Given the description of an element on the screen output the (x, y) to click on. 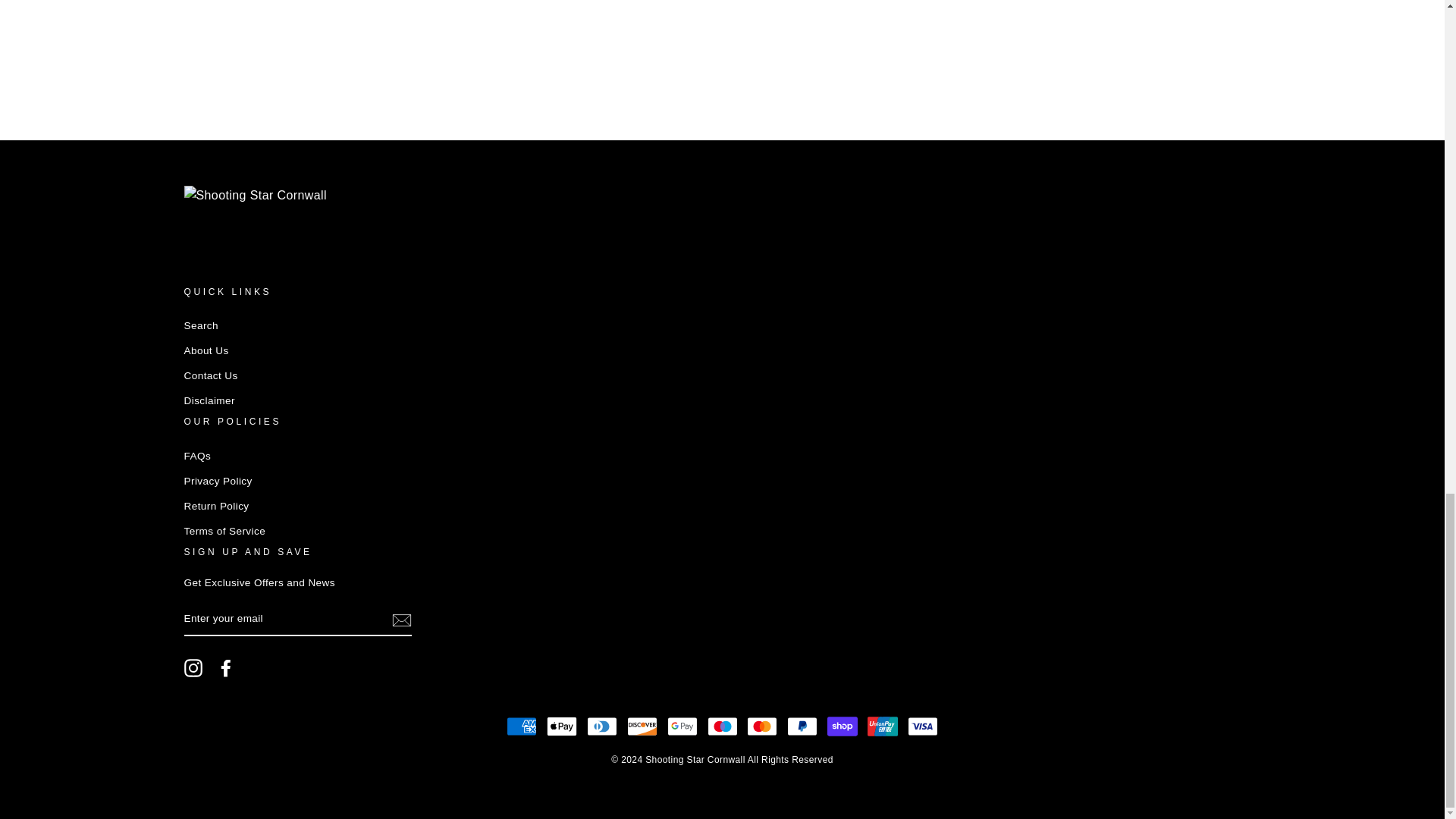
Google Pay (681, 726)
Shop Pay (842, 726)
American Express (521, 726)
Shooting Star Cornwall on Instagram (192, 668)
Maestro (721, 726)
Apple Pay (561, 726)
Discover (642, 726)
Mastercard (761, 726)
Shooting Star Cornwall on Facebook (225, 668)
PayPal (801, 726)
